Given the description of an element on the screen output the (x, y) to click on. 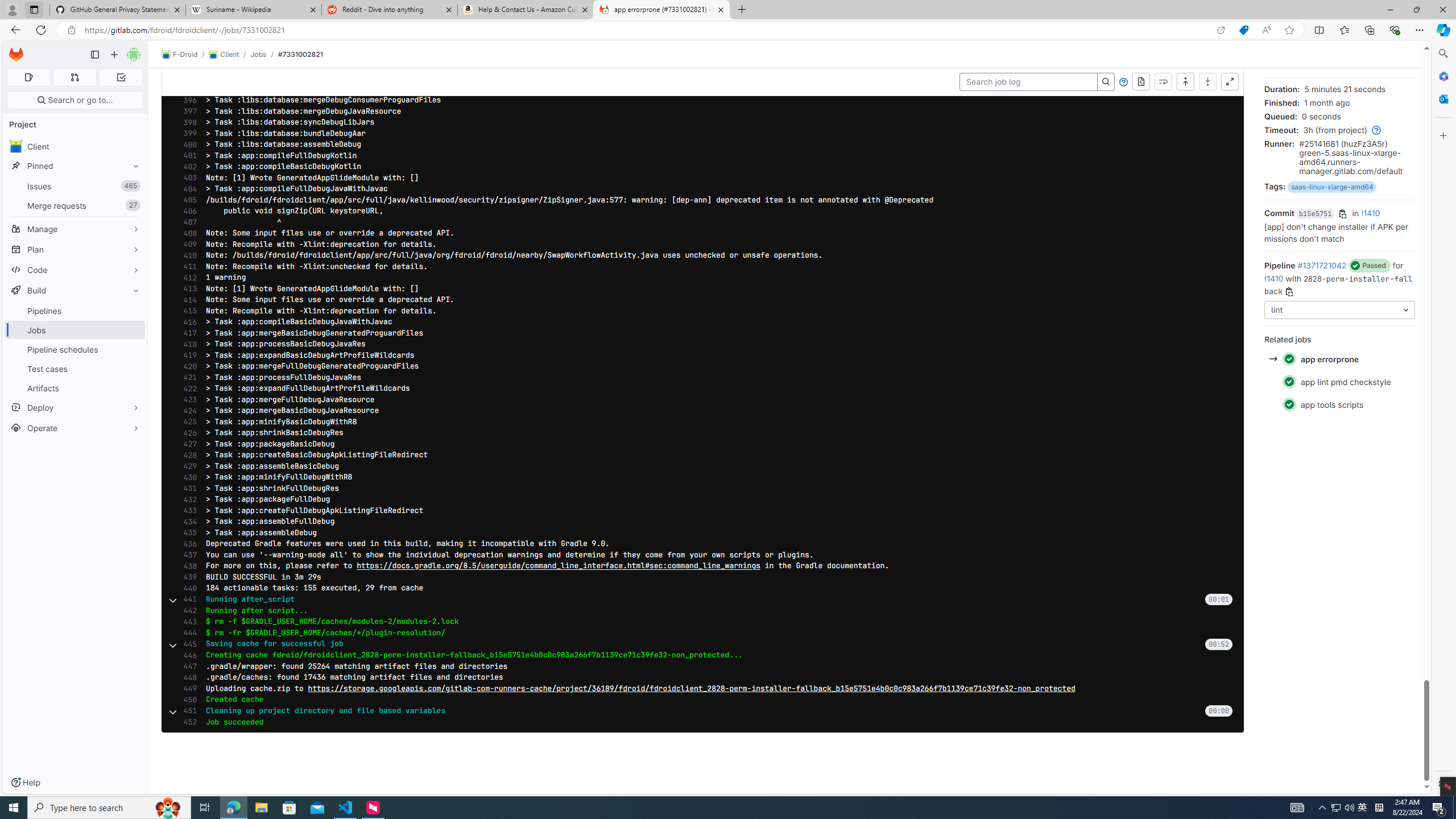
Code (74, 269)
409 (186, 244)
451 (186, 710)
425 (186, 421)
b15e5751 (1314, 213)
Status: Passed app tools scripts (1338, 404)
Unpin Issues (132, 186)
399 (186, 133)
404 (186, 188)
lint (1339, 309)
Jobs (74, 330)
Copy branch name (1288, 291)
424 (186, 410)
